Given the description of an element on the screen output the (x, y) to click on. 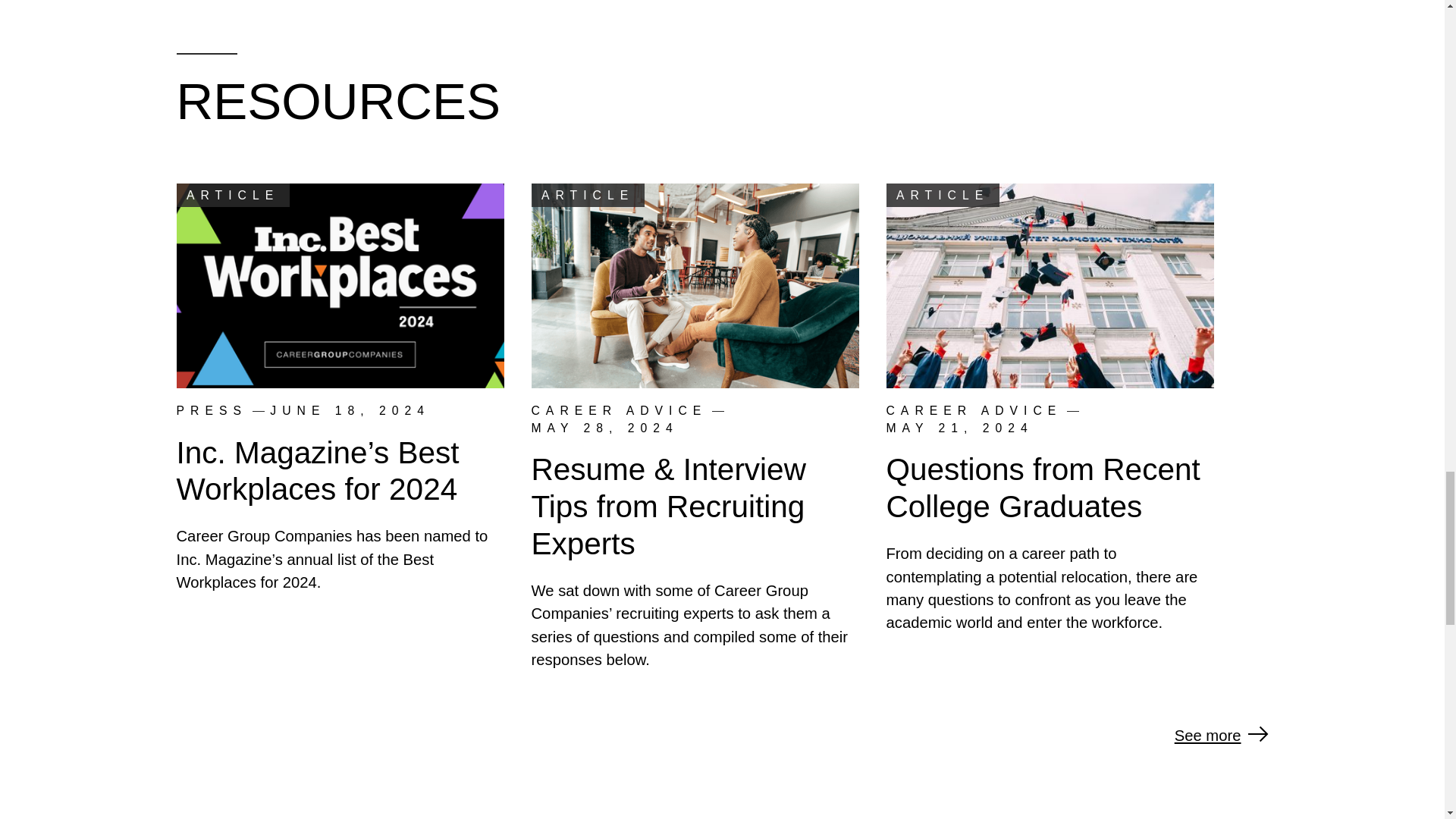
See more (1221, 735)
